Given the description of an element on the screen output the (x, y) to click on. 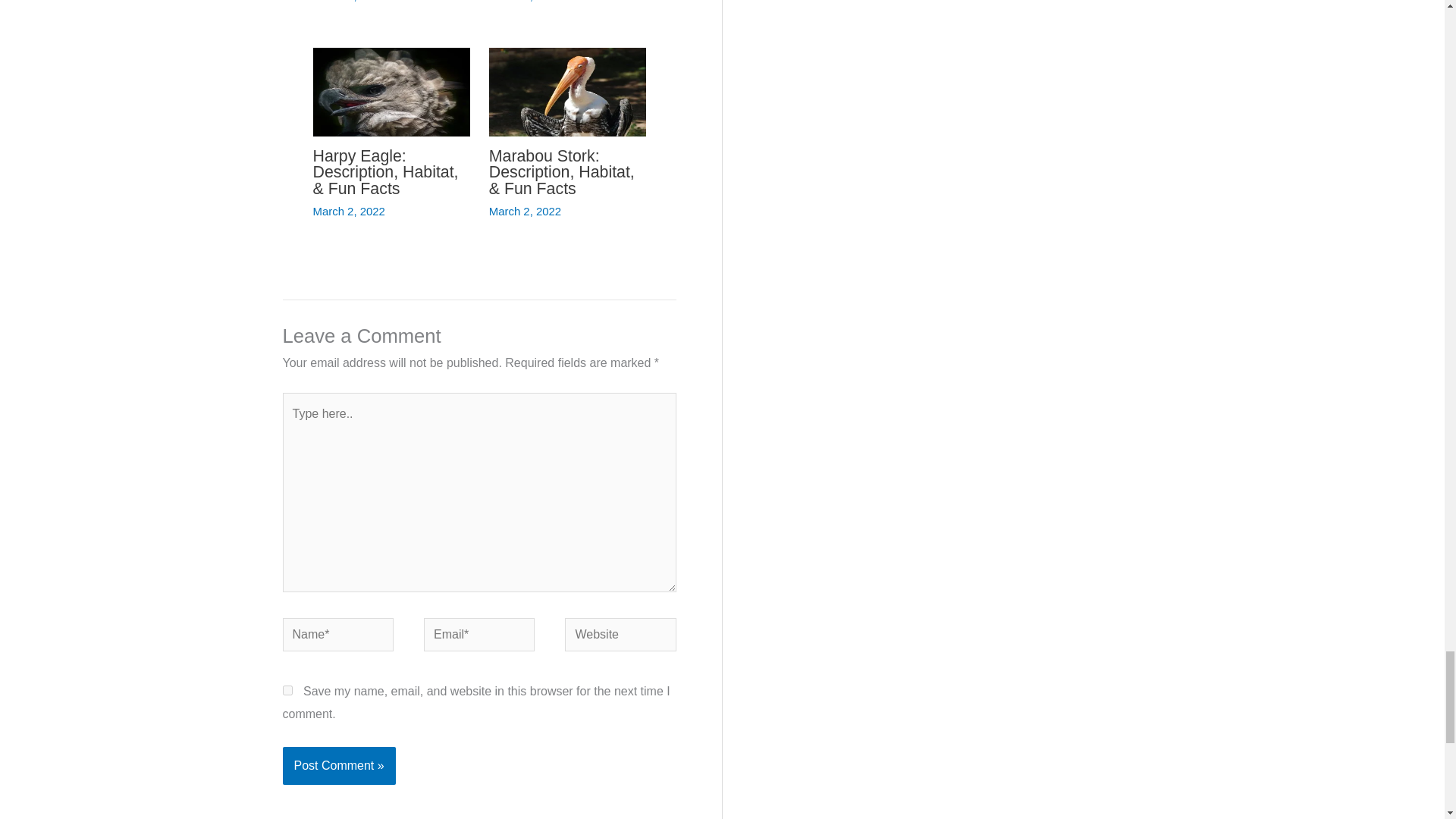
yes (287, 690)
